Given the description of an element on the screen output the (x, y) to click on. 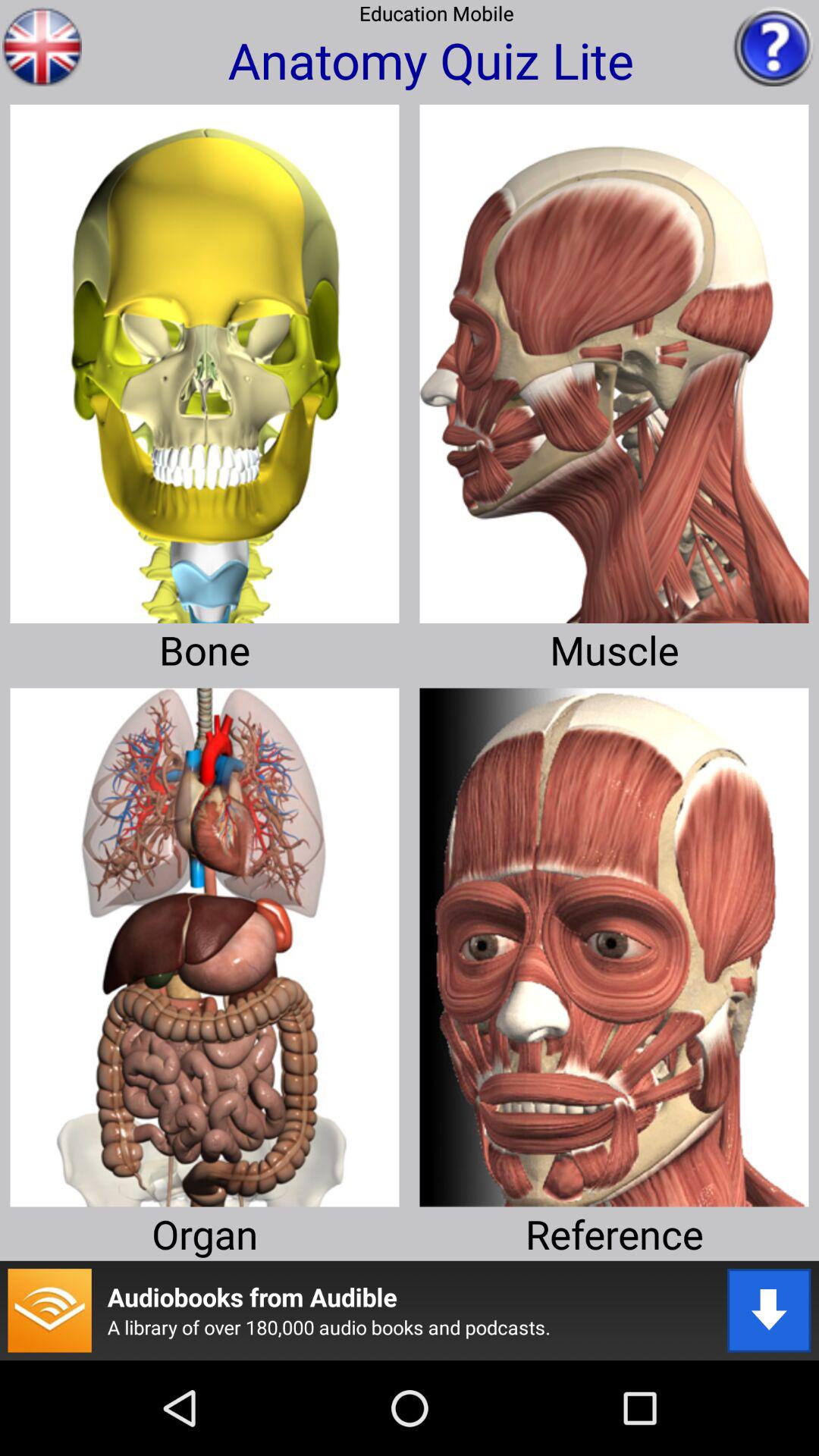
organ selection (204, 941)
